Given the description of an element on the screen output the (x, y) to click on. 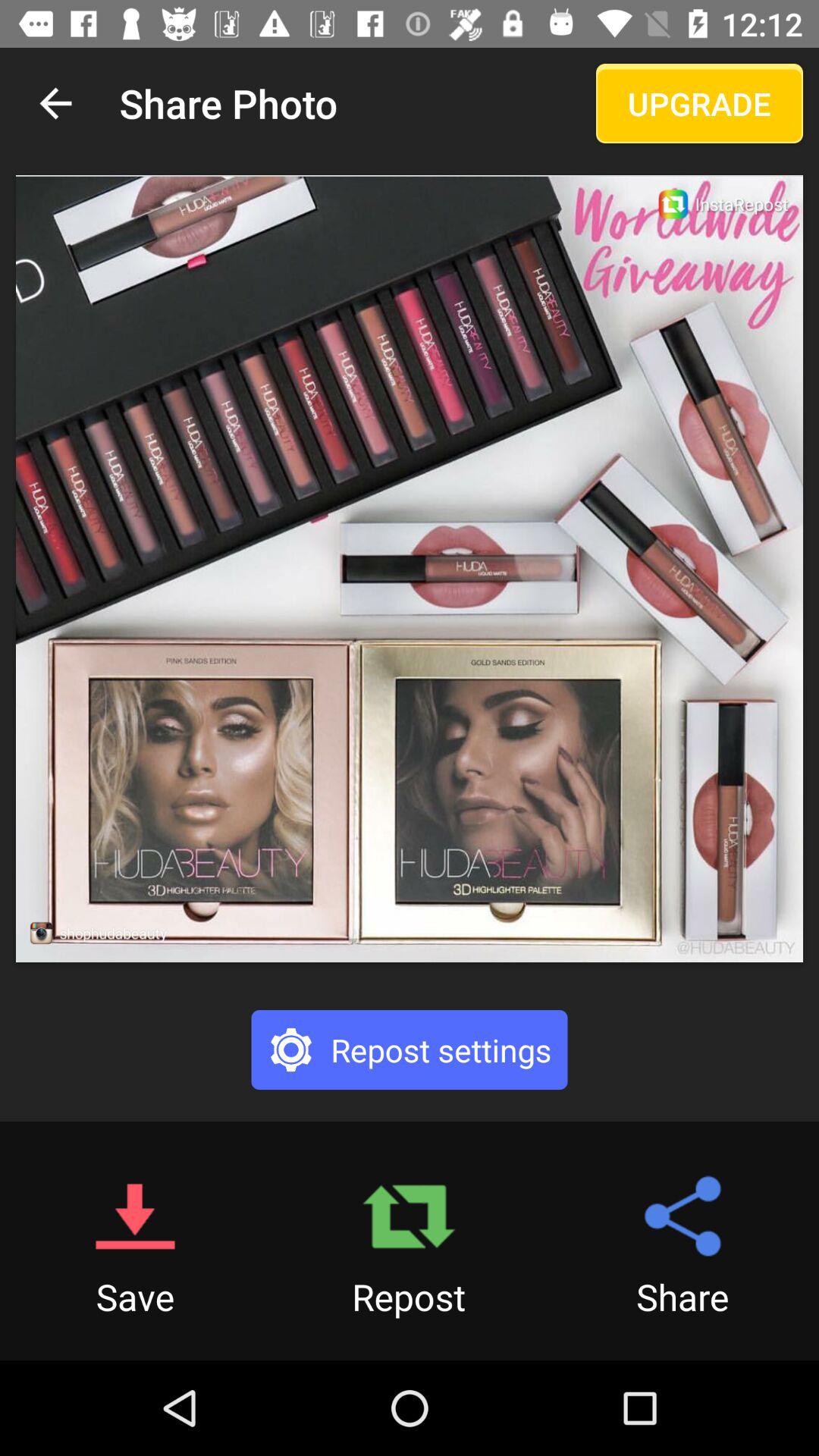
launch the upgrade (699, 103)
